Given the description of an element on the screen output the (x, y) to click on. 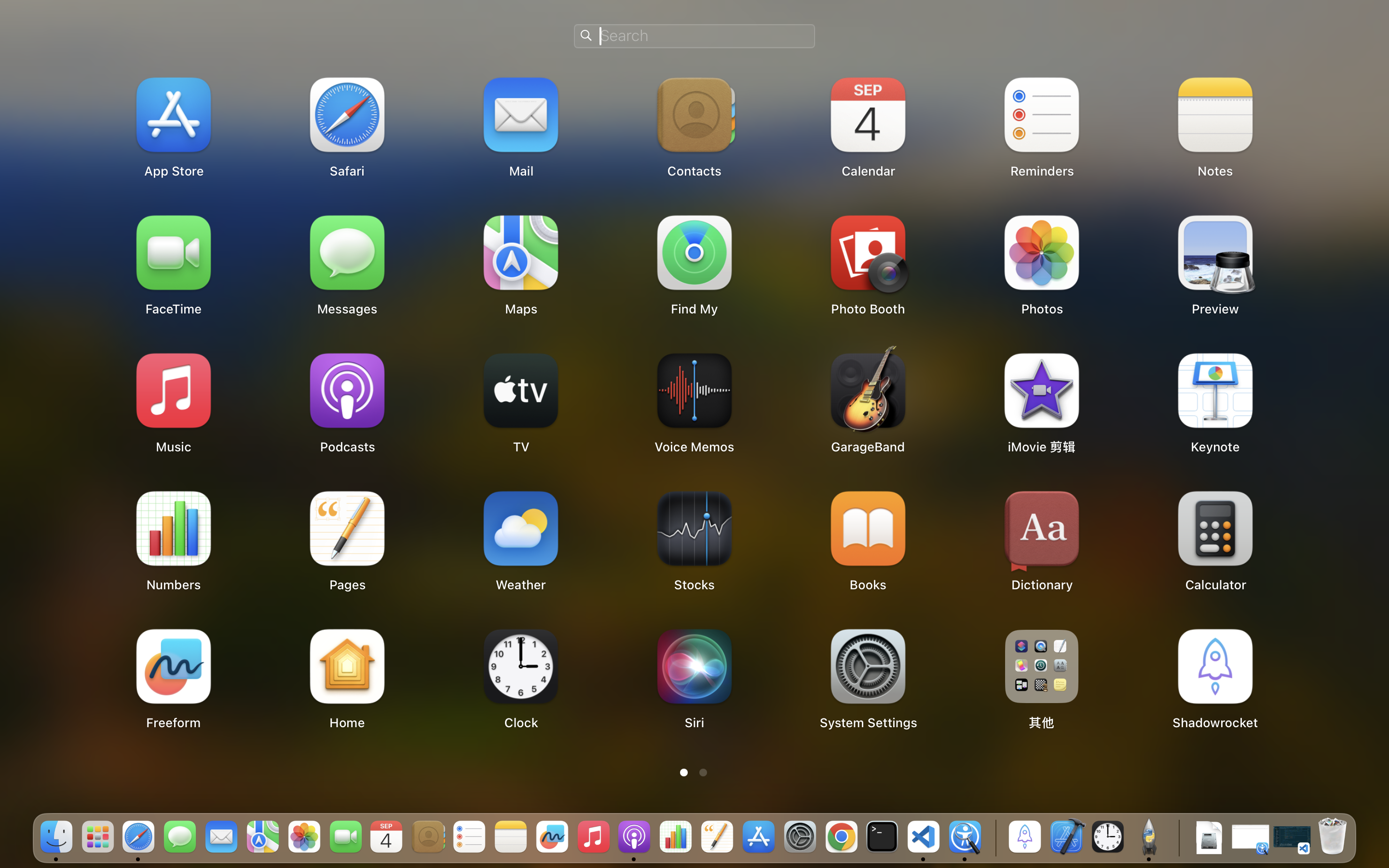
0.4285714328289032 Element type: AXDockItem (993, 837)
